Given the description of an element on the screen output the (x, y) to click on. 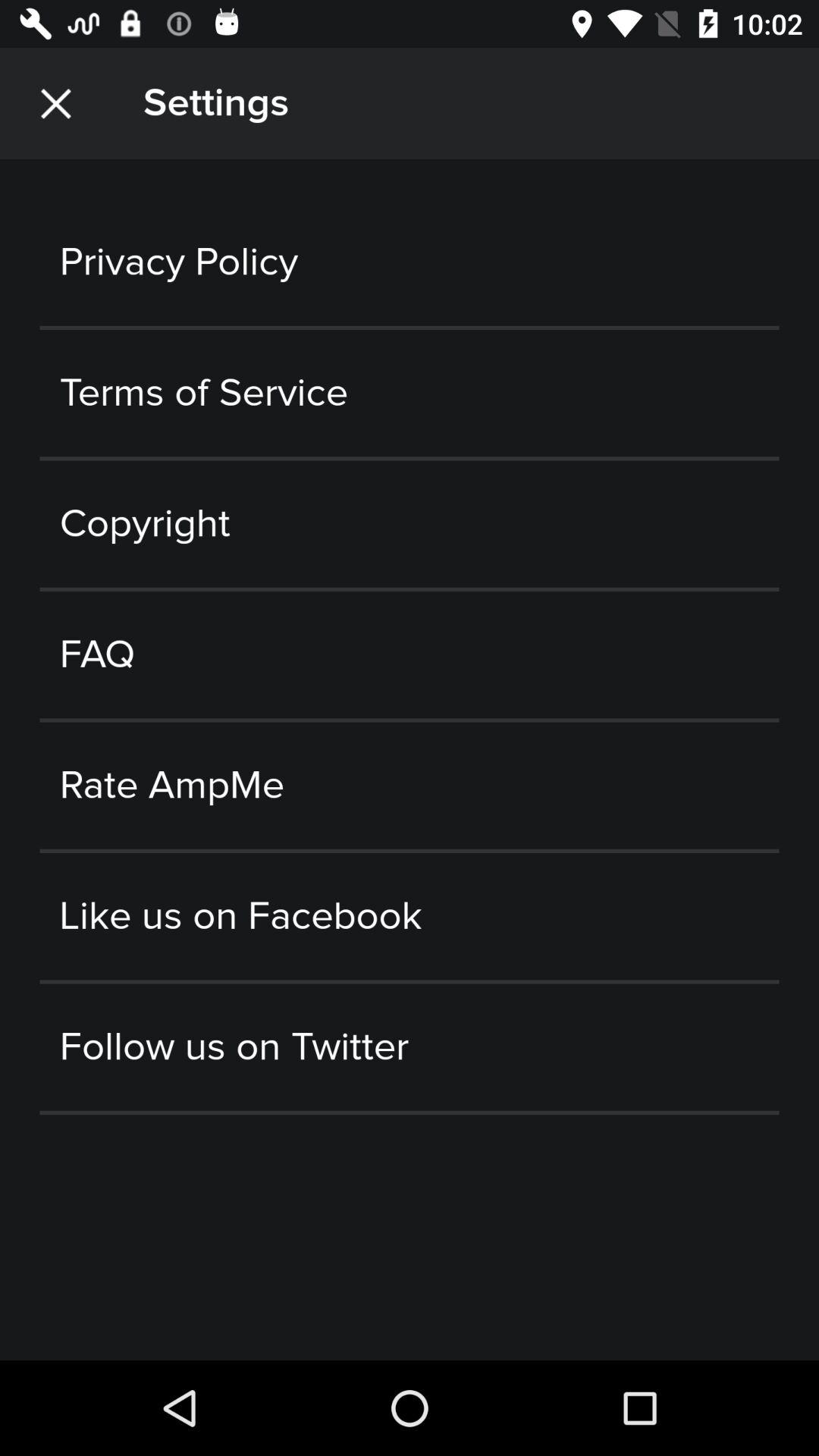
swipe to privacy policy icon (409, 262)
